Given the description of an element on the screen output the (x, y) to click on. 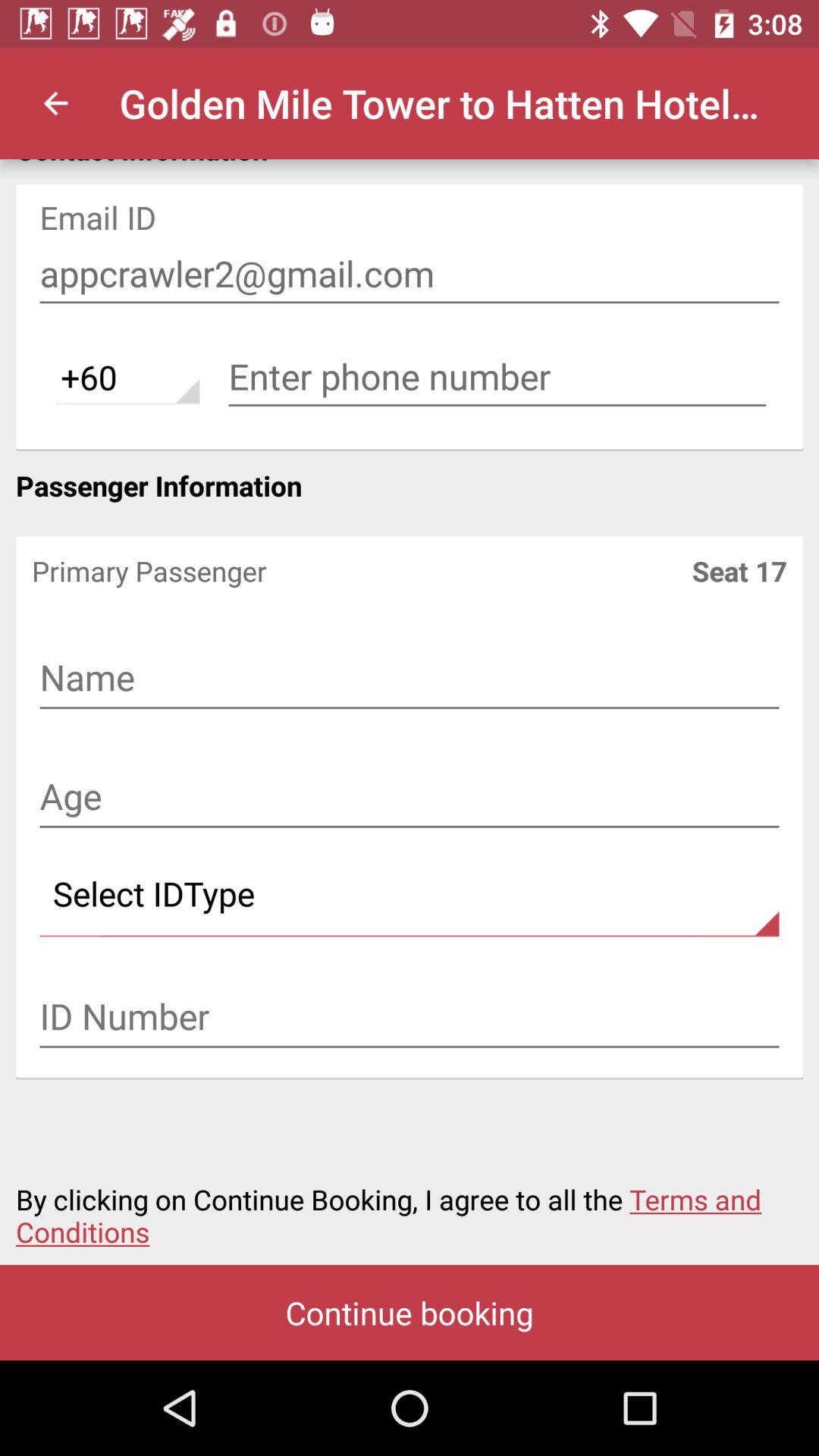
turn on item below select idtype item (409, 1018)
